Given the description of an element on the screen output the (x, y) to click on. 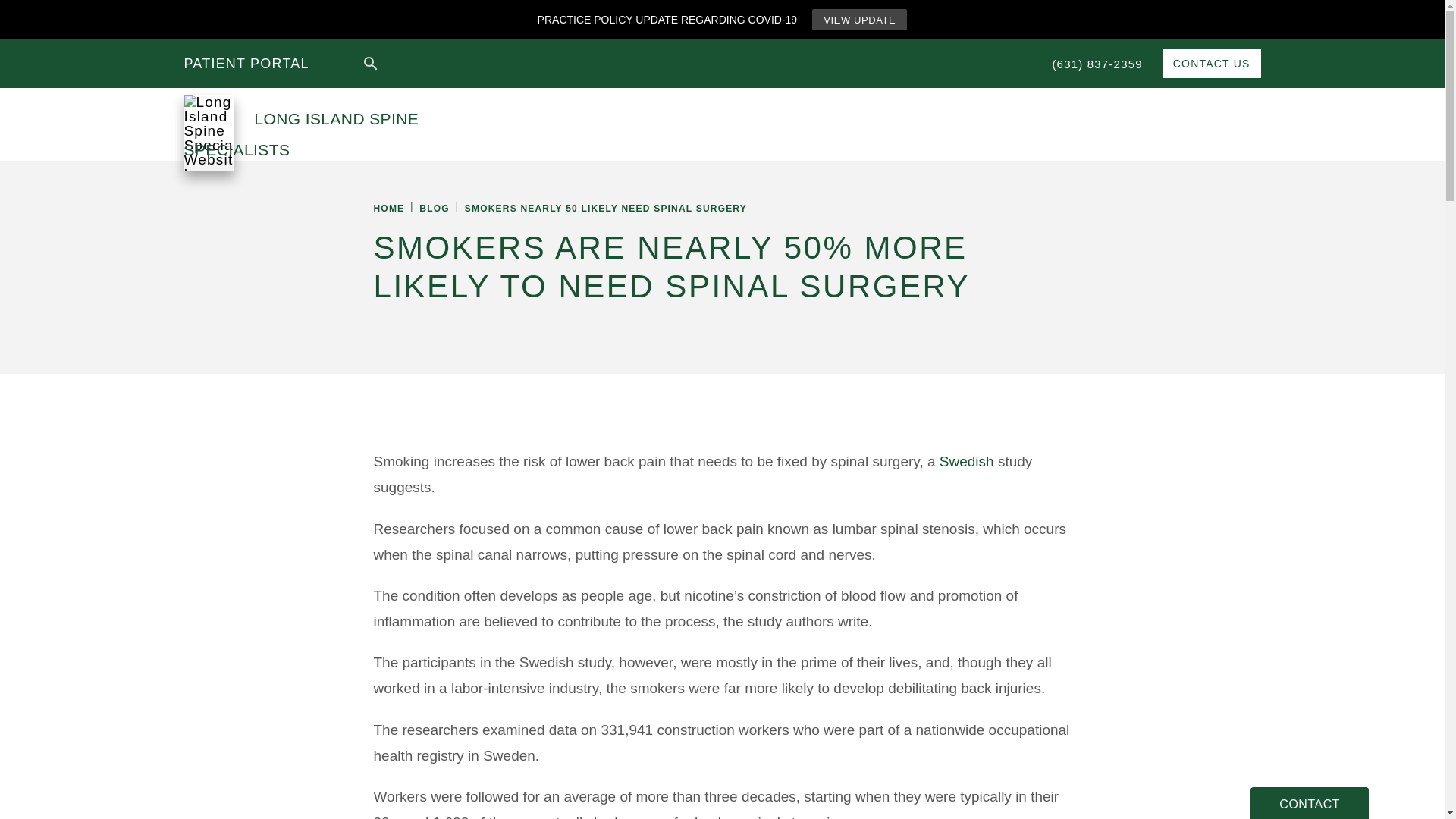
LONG ISLAND SPINE SPECIALISTS (349, 124)
PATIENT PORTAL (245, 62)
VIEW UPDATE (859, 19)
